Given the description of an element on the screen output the (x, y) to click on. 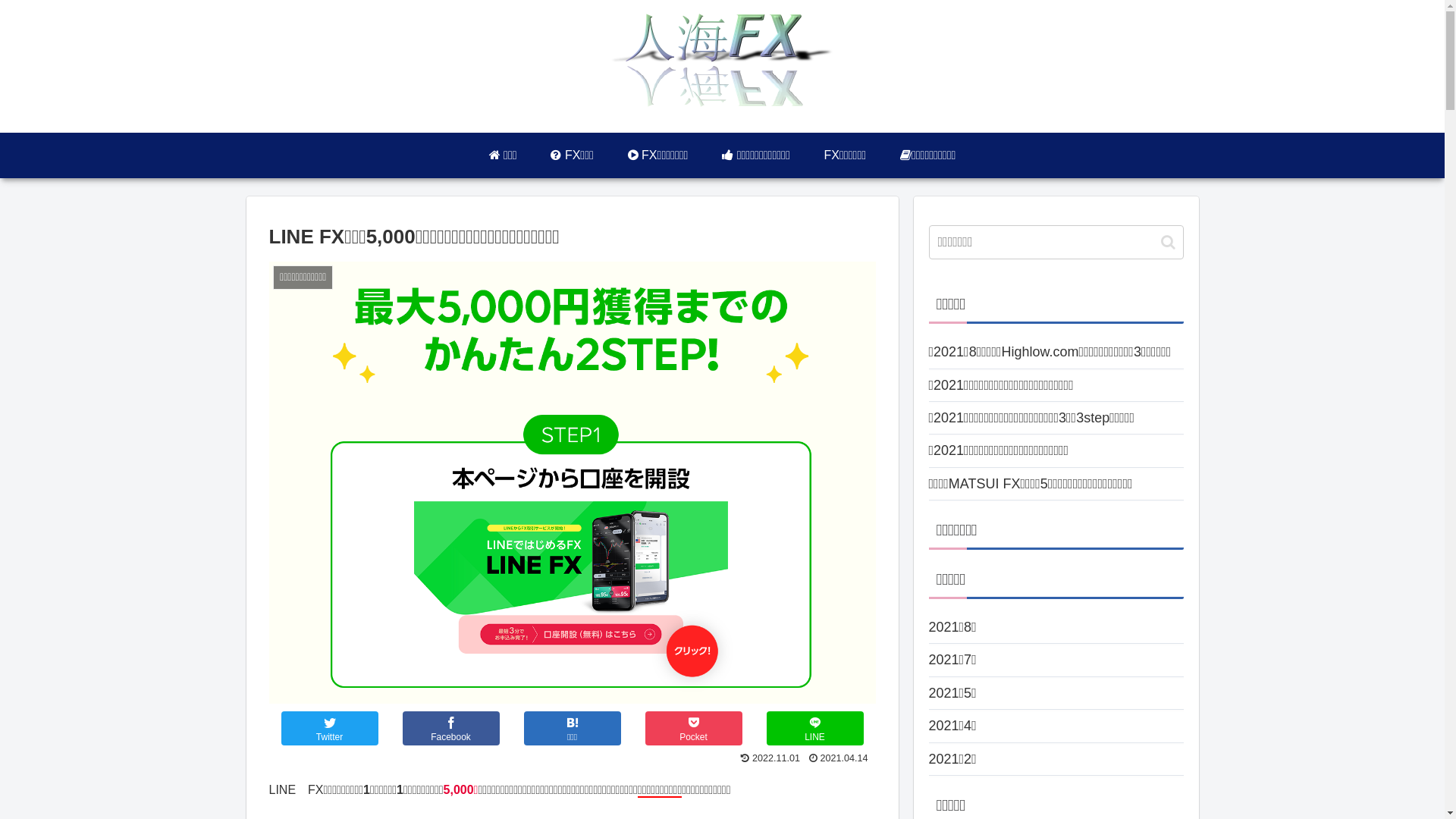
Twitter Element type: text (328, 728)
Pocket Element type: text (692, 728)
Facebook Element type: text (449, 728)
LINE Element type: text (813, 728)
